Given the description of an element on the screen output the (x, y) to click on. 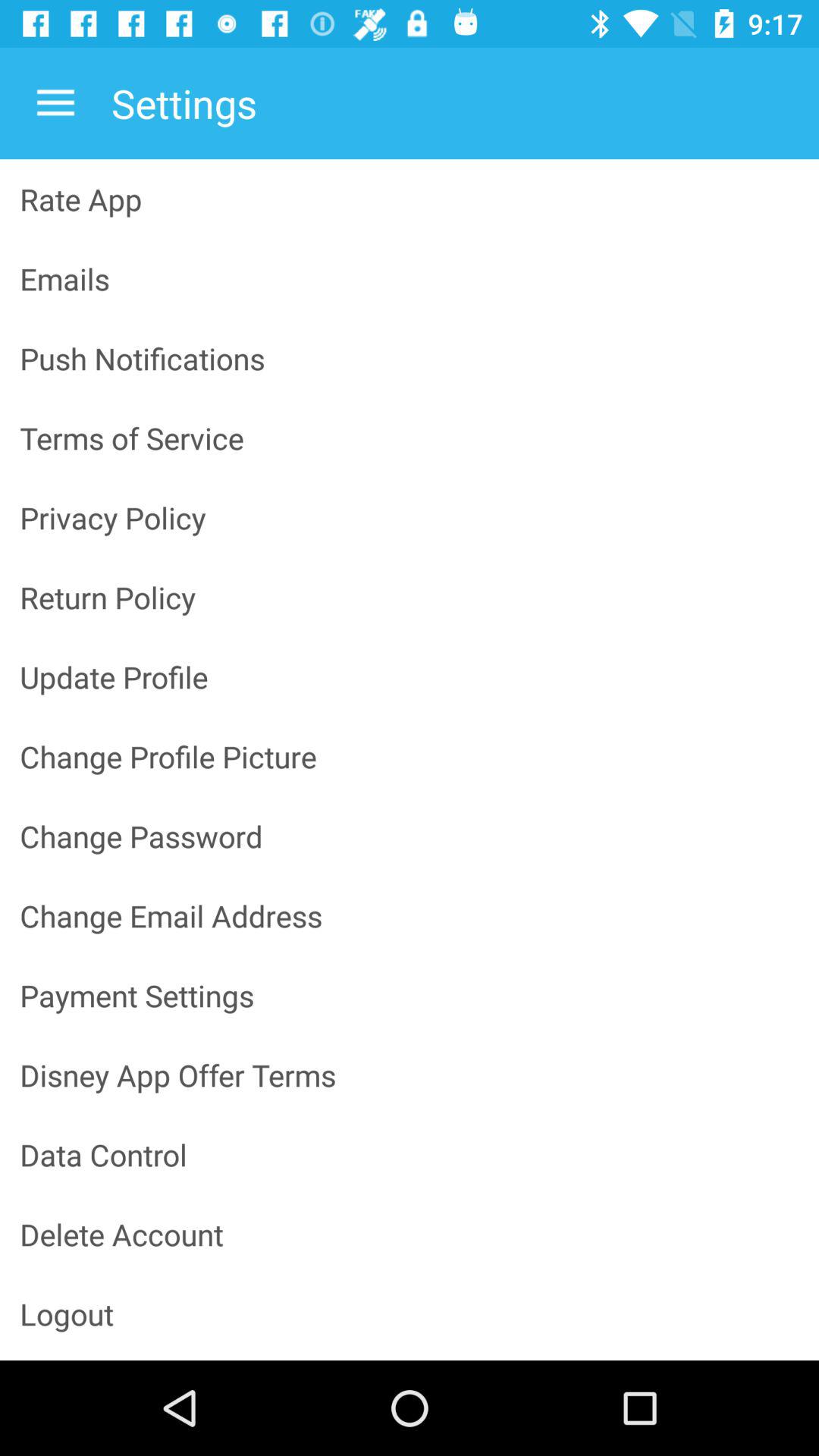
flip until delete account (409, 1234)
